Given the description of an element on the screen output the (x, y) to click on. 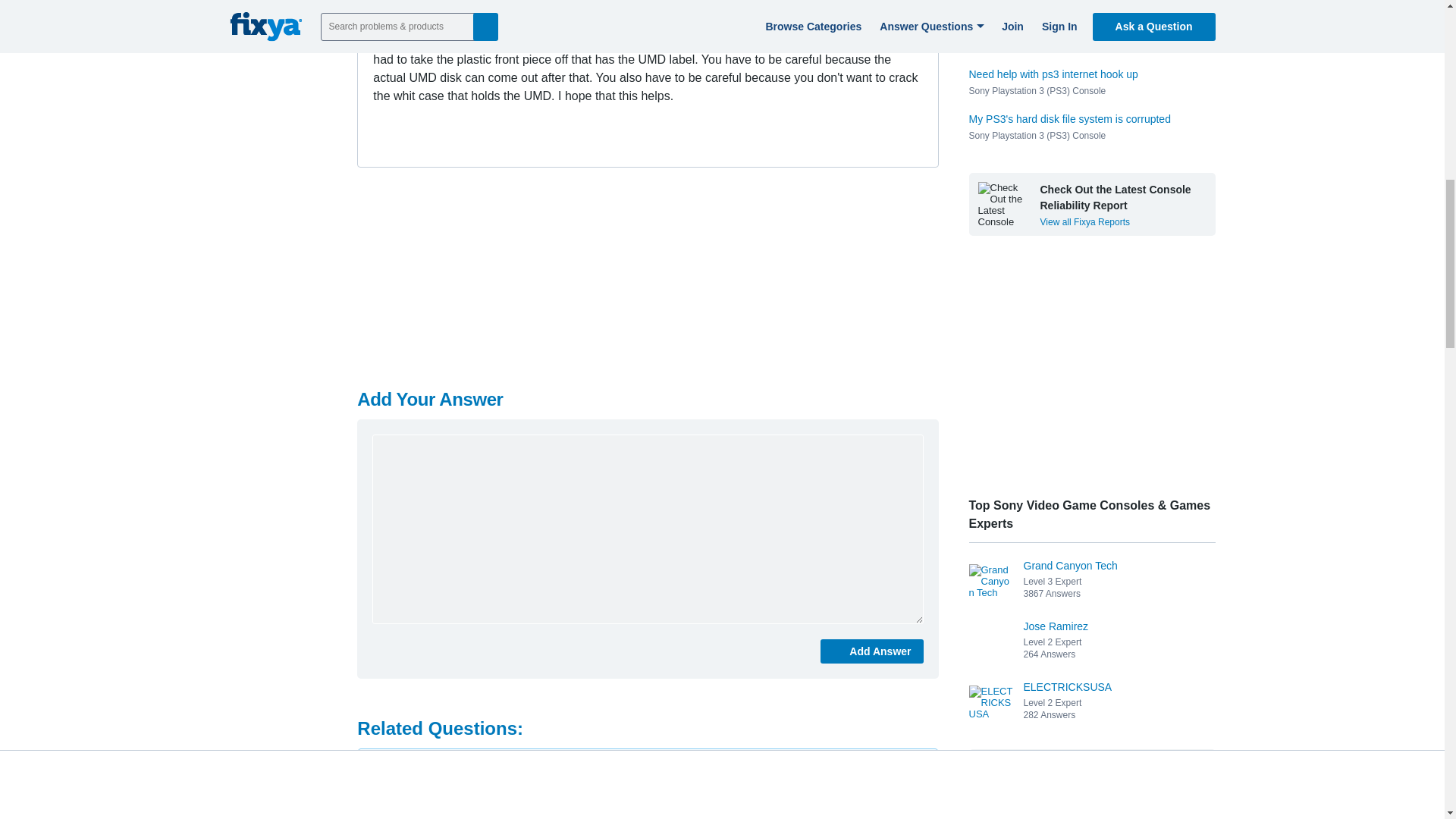
Add Answer (872, 651)
